Given the description of an element on the screen output the (x, y) to click on. 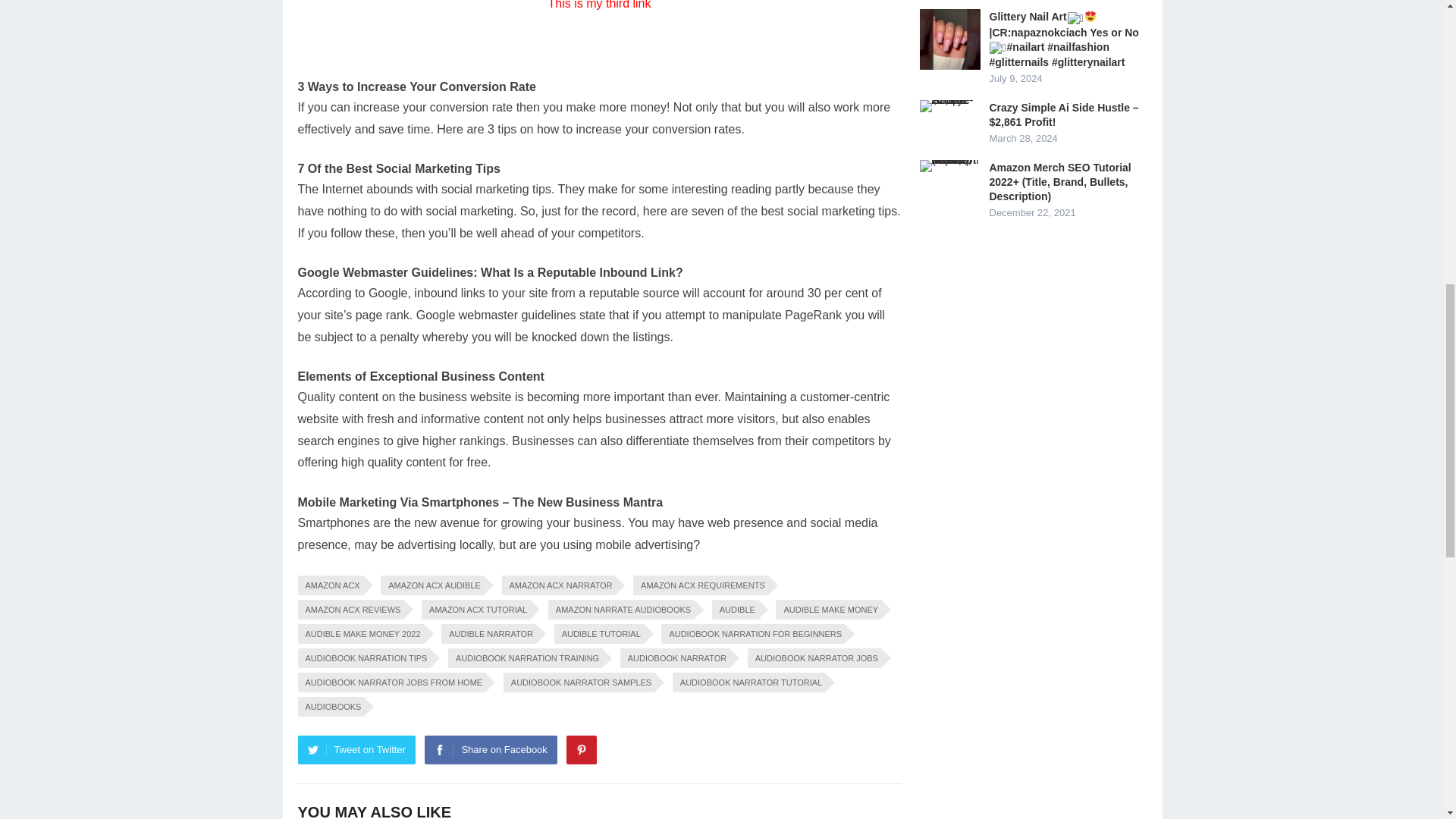
AMAZON ACX REVIEWS (350, 609)
AMAZON NARRATE AUDIOBOOKS (621, 609)
AMAZON ACX (329, 585)
AMAZON ACX AUDIBLE (431, 585)
AMAZON ACX NARRATOR (558, 585)
AMAZON ACX REQUIREMENTS (700, 585)
This is my third link (598, 4)
AUDIBLE (734, 609)
AMAZON ACX TUTORIAL (475, 609)
